Given the description of an element on the screen output the (x, y) to click on. 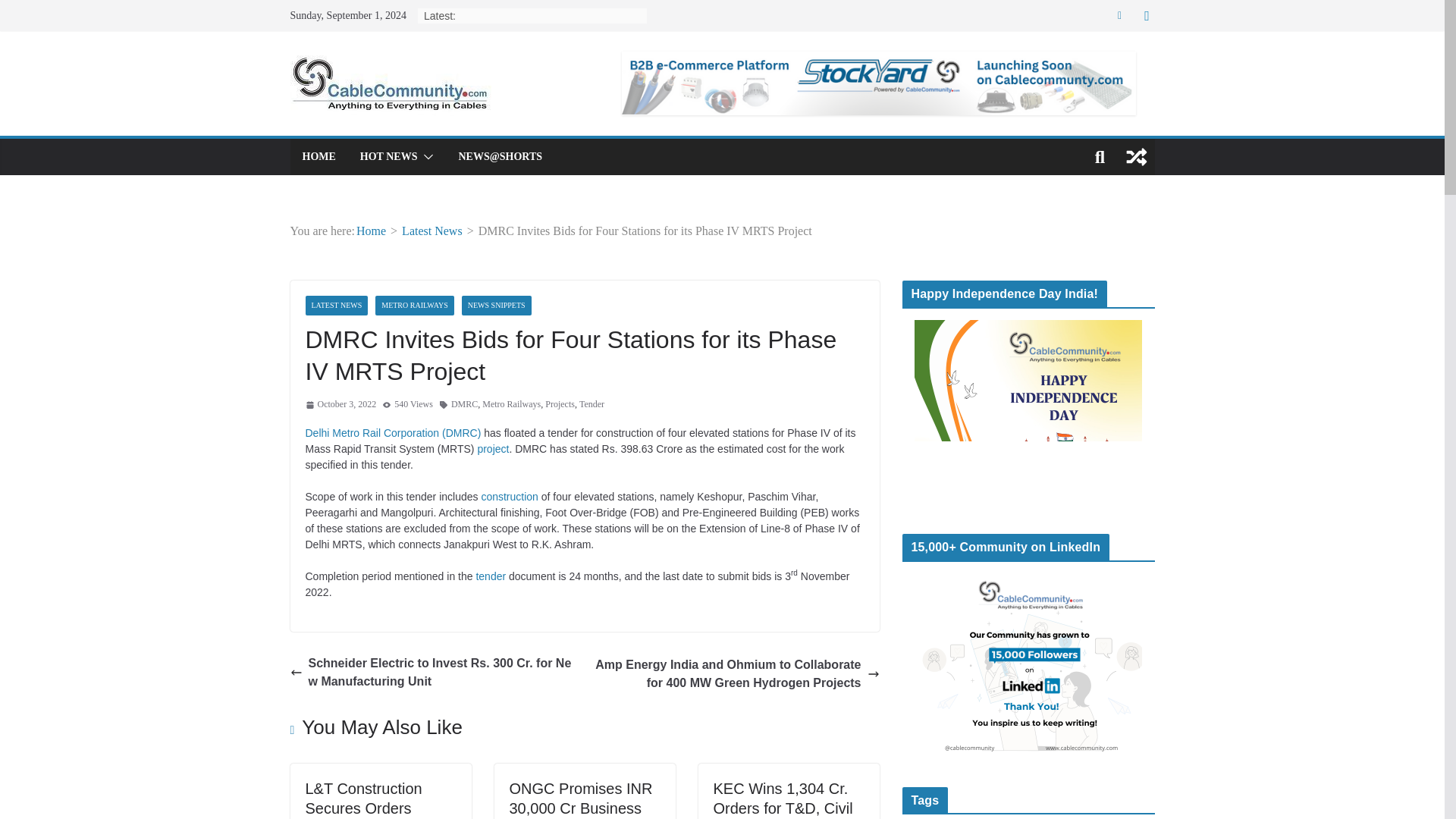
Home (370, 230)
Metro Railways (510, 404)
10:05 am (339, 404)
Tender (591, 404)
View a random post (1136, 156)
tender (490, 576)
NEWS SNIPPETS (496, 305)
LATEST NEWS (336, 305)
Latest News (432, 230)
construction (508, 496)
